Given the description of an element on the screen output the (x, y) to click on. 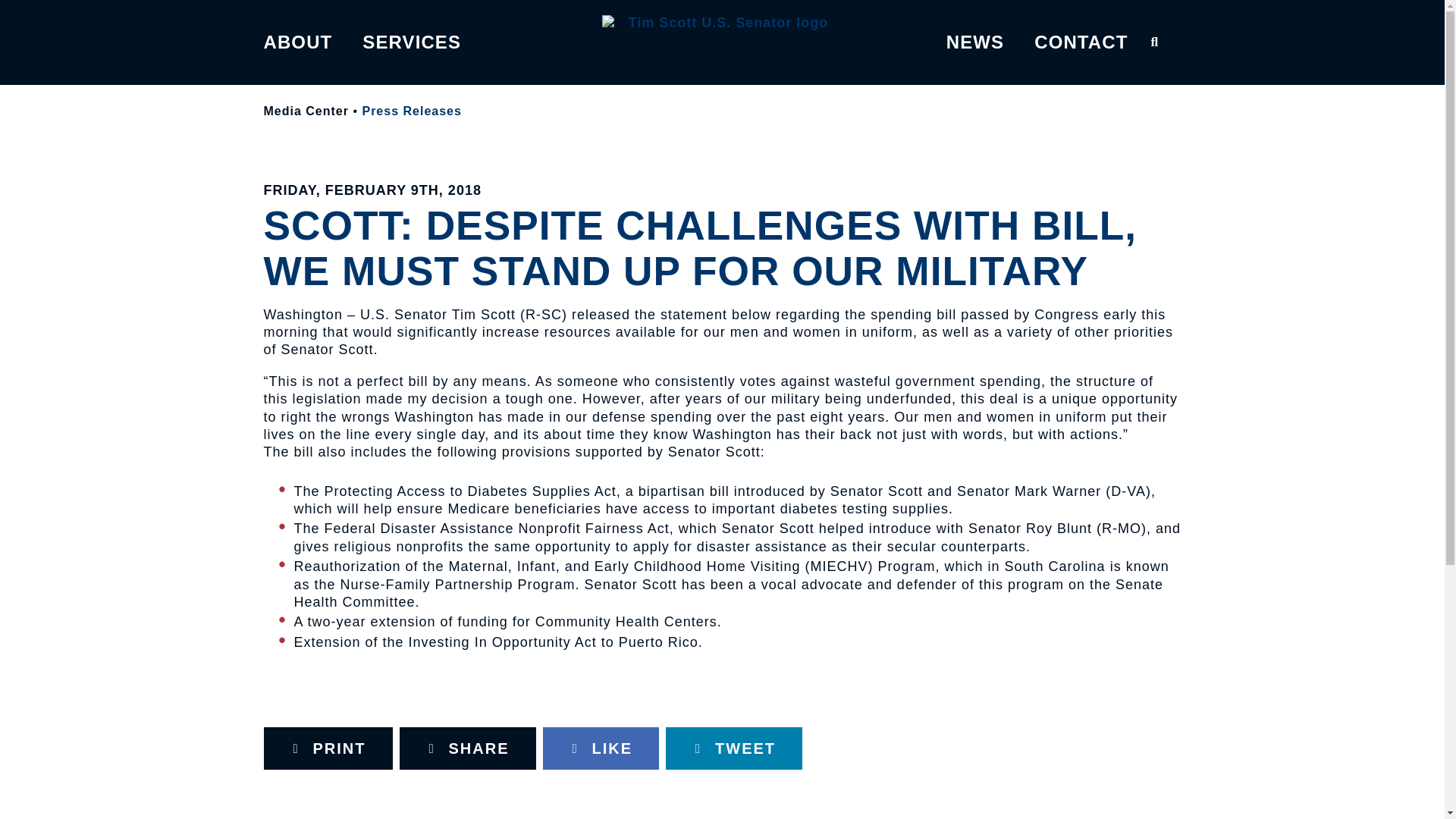
NEWS (975, 41)
SERVICES (411, 41)
ABOUT (298, 41)
CONTACT (1079, 41)
